Given the description of an element on the screen output the (x, y) to click on. 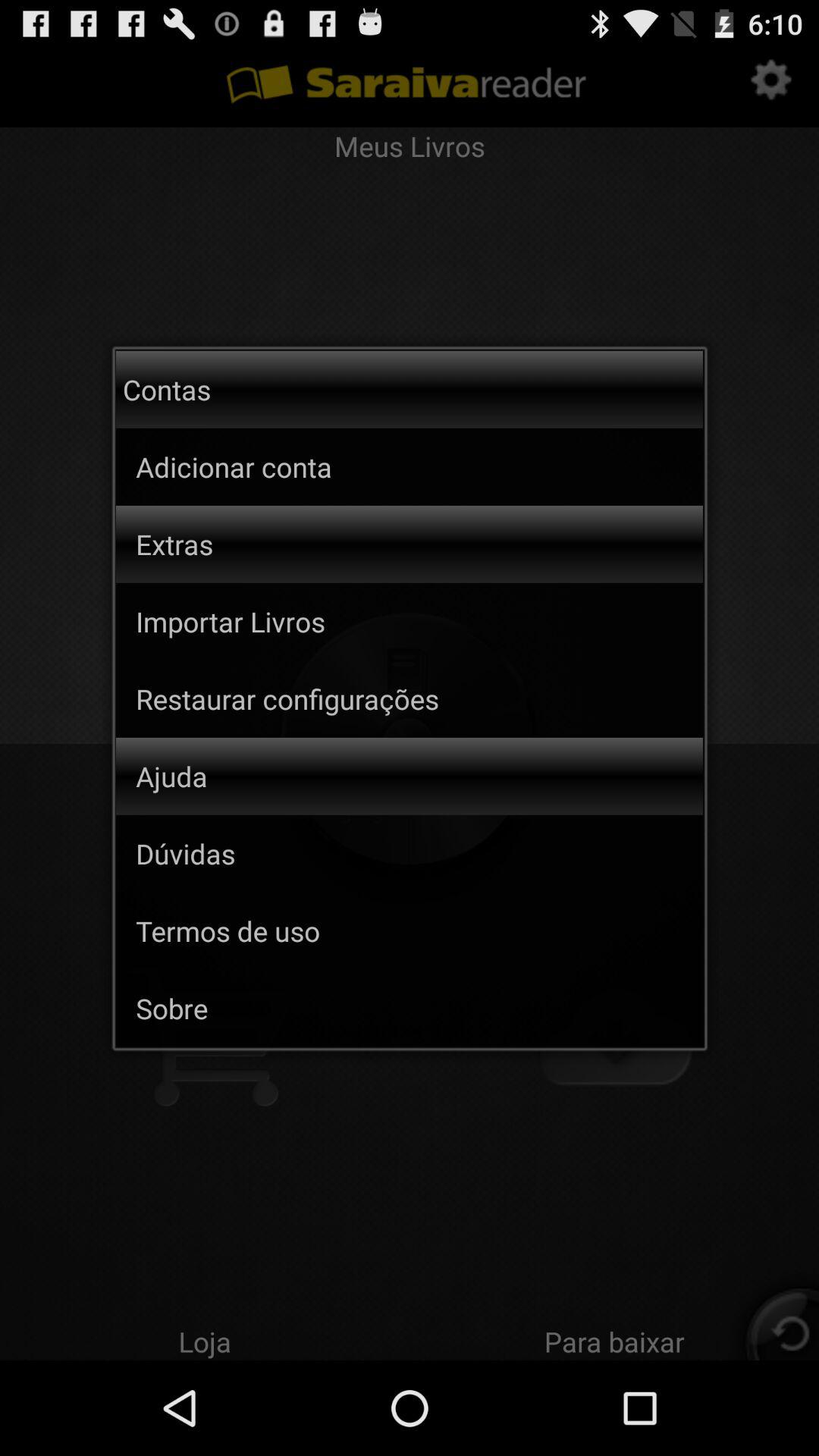
launch app above the ajuda (418, 698)
